Given the description of an element on the screen output the (x, y) to click on. 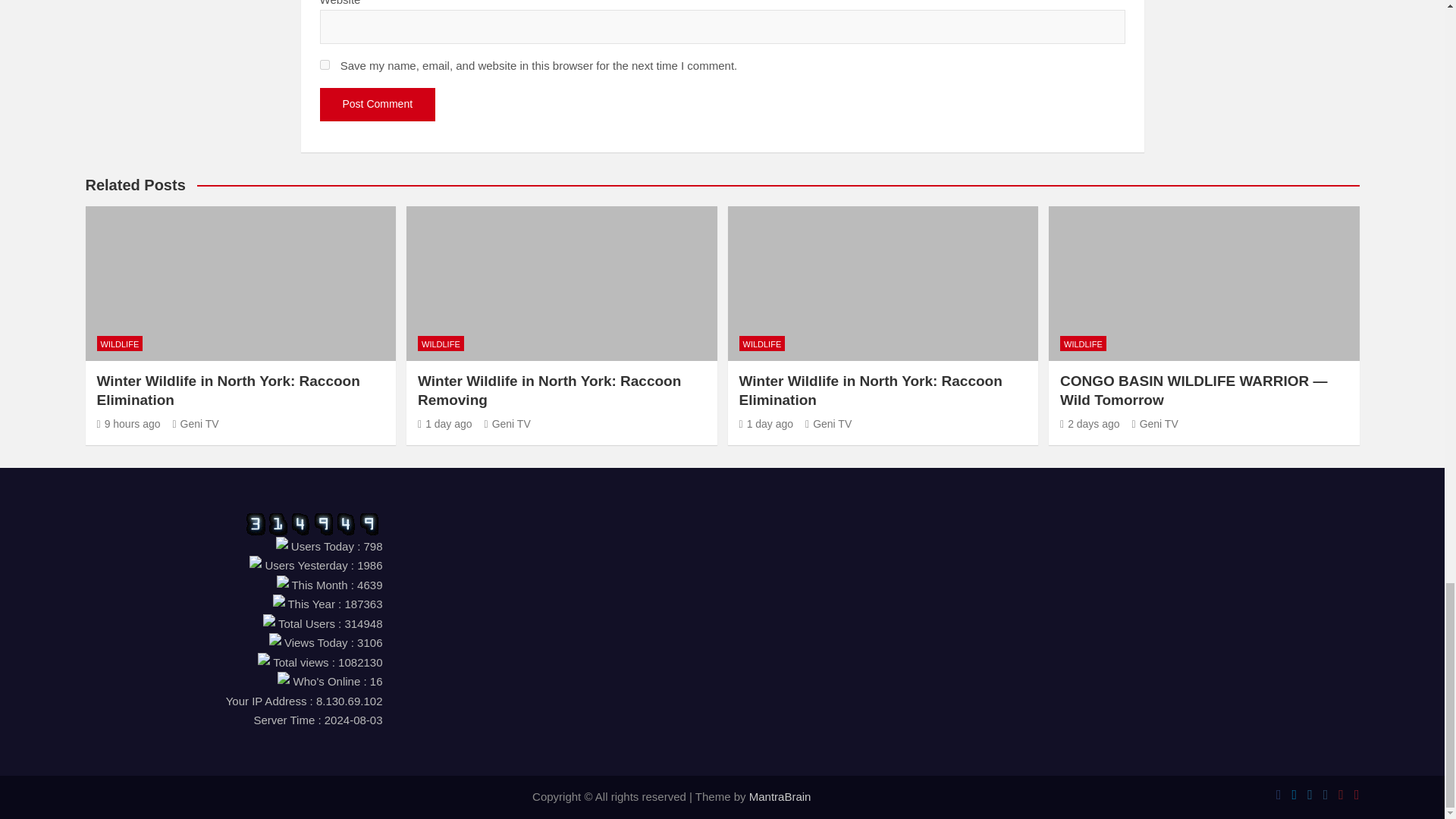
yes (325, 64)
MantraBrain (779, 796)
Winter Wildlife in North York: Raccoon Removing (444, 423)
Winter Wildlife in North York: Raccoon Elimination (765, 423)
Post Comment (377, 104)
Winter Wildlife in North York: Raccoon Elimination (128, 423)
